Given the description of an element on the screen output the (x, y) to click on. 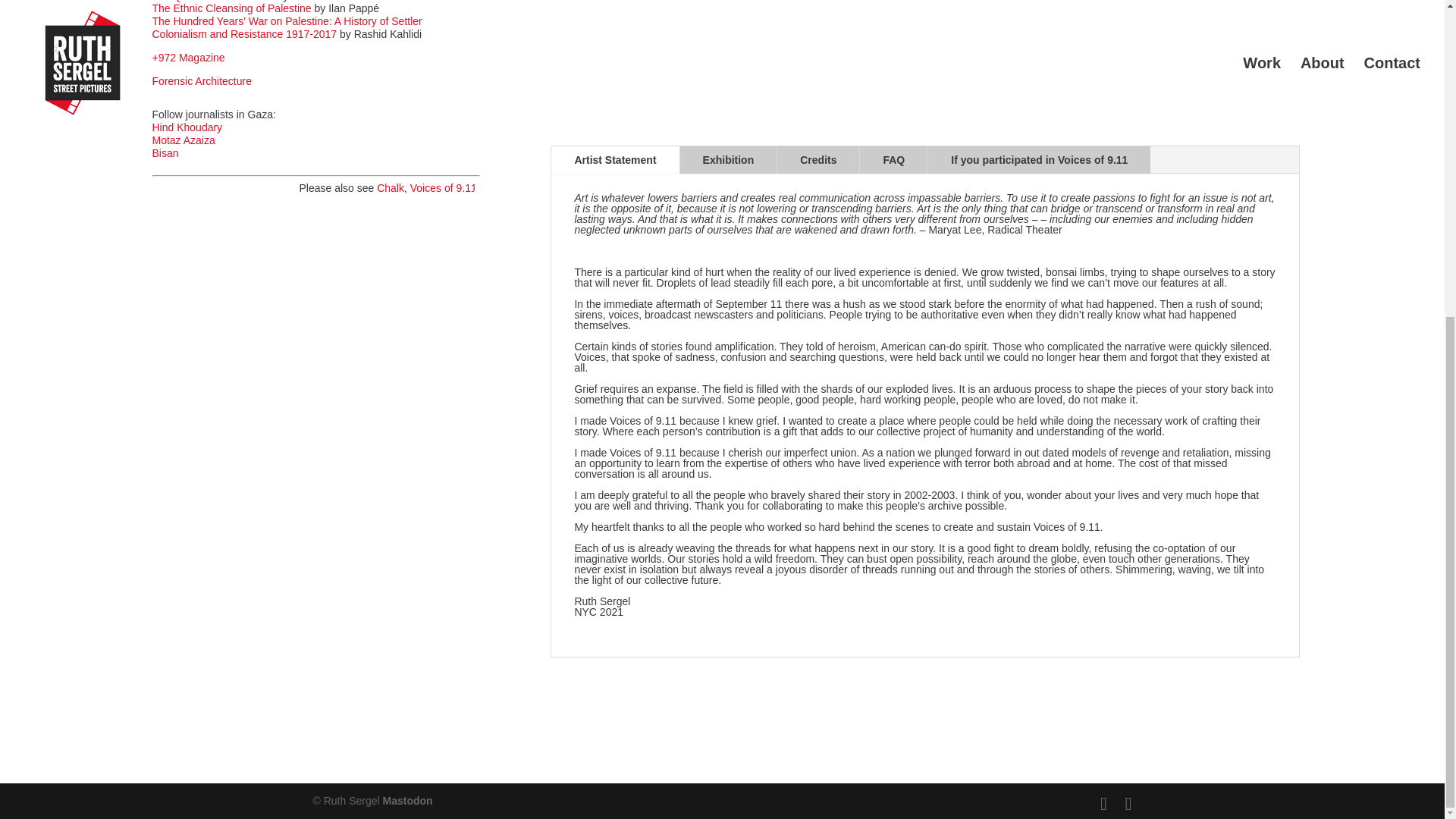
The Question of Palestine (212, 1)
The Ethnic Cleansing of Palestine (231, 8)
Hind Khoudary (186, 127)
Voices of 9.11 (443, 187)
If you participated in Voices of 9.11 (1039, 159)
Mastodon (407, 800)
FAQ (893, 159)
Motaz Azaiza (182, 140)
Chalk (390, 187)
Bisan (164, 152)
